Given the description of an element on the screen output the (x, y) to click on. 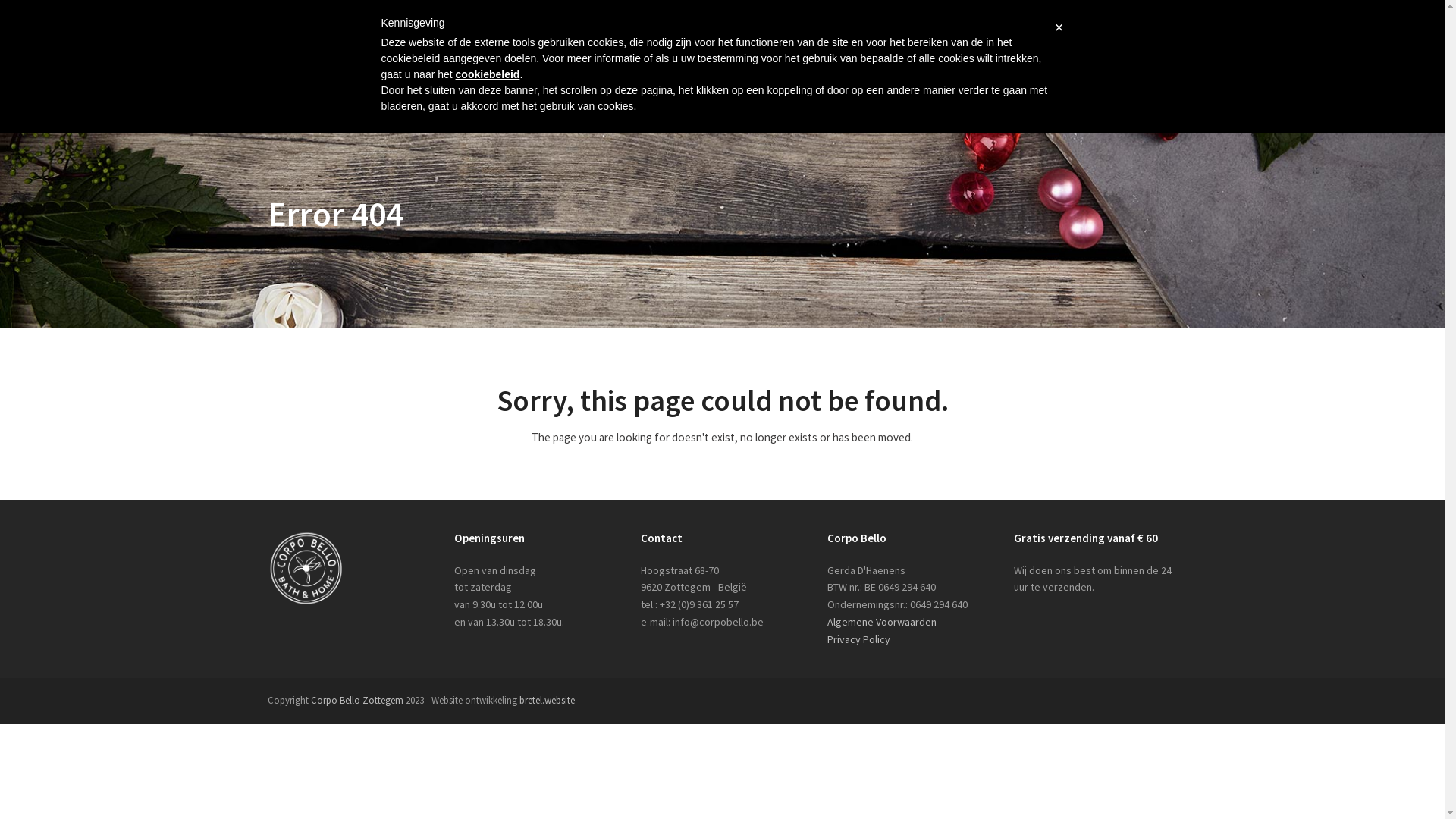
bretel.website Element type: text (546, 699)
SHOP Element type: text (881, 62)
Privacy Policy Element type: text (857, 639)
ONZE PRODUCTEN Element type: text (737, 62)
NIEUW Element type: text (1021, 62)
Corpo Bello Zottegem Element type: text (356, 699)
OVER ONS Element type: text (642, 62)
CADEAUBON Element type: text (949, 62)
HOME Element type: text (581, 62)
cookiebeleid Element type: text (487, 74)
Shop Element type: text (1165, 10)
Afrekenen Element type: text (1022, 10)
CONTACT Element type: text (1084, 62)
Algemene Voorwaarden Element type: text (880, 621)
Winkelmand Element type: text (1103, 10)
